Given the description of an element on the screen output the (x, y) to click on. 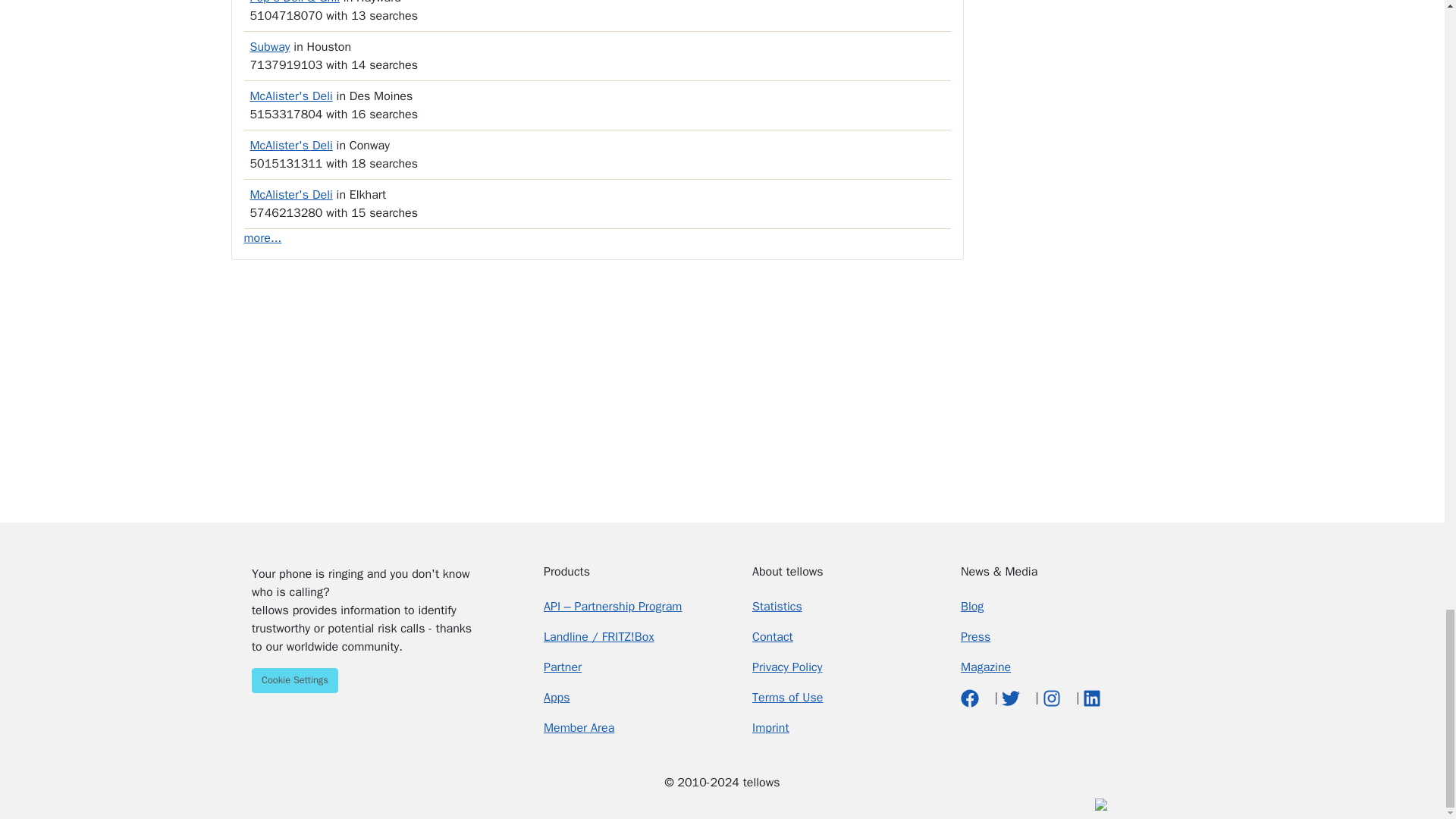
Magazin (985, 667)
LinkedIn (1091, 697)
tellows Netherlands (439, 803)
tellows Austria (459, 803)
Blog (972, 606)
tellows Great Britain (382, 803)
Instagram (1053, 697)
tellows France (421, 803)
Presse (975, 636)
tellows Japan (499, 803)
twitter (1012, 697)
tellows Germany (343, 803)
Facebook (971, 697)
tellows Switzerland (480, 803)
tellows Spain (401, 803)
